Given the description of an element on the screen output the (x, y) to click on. 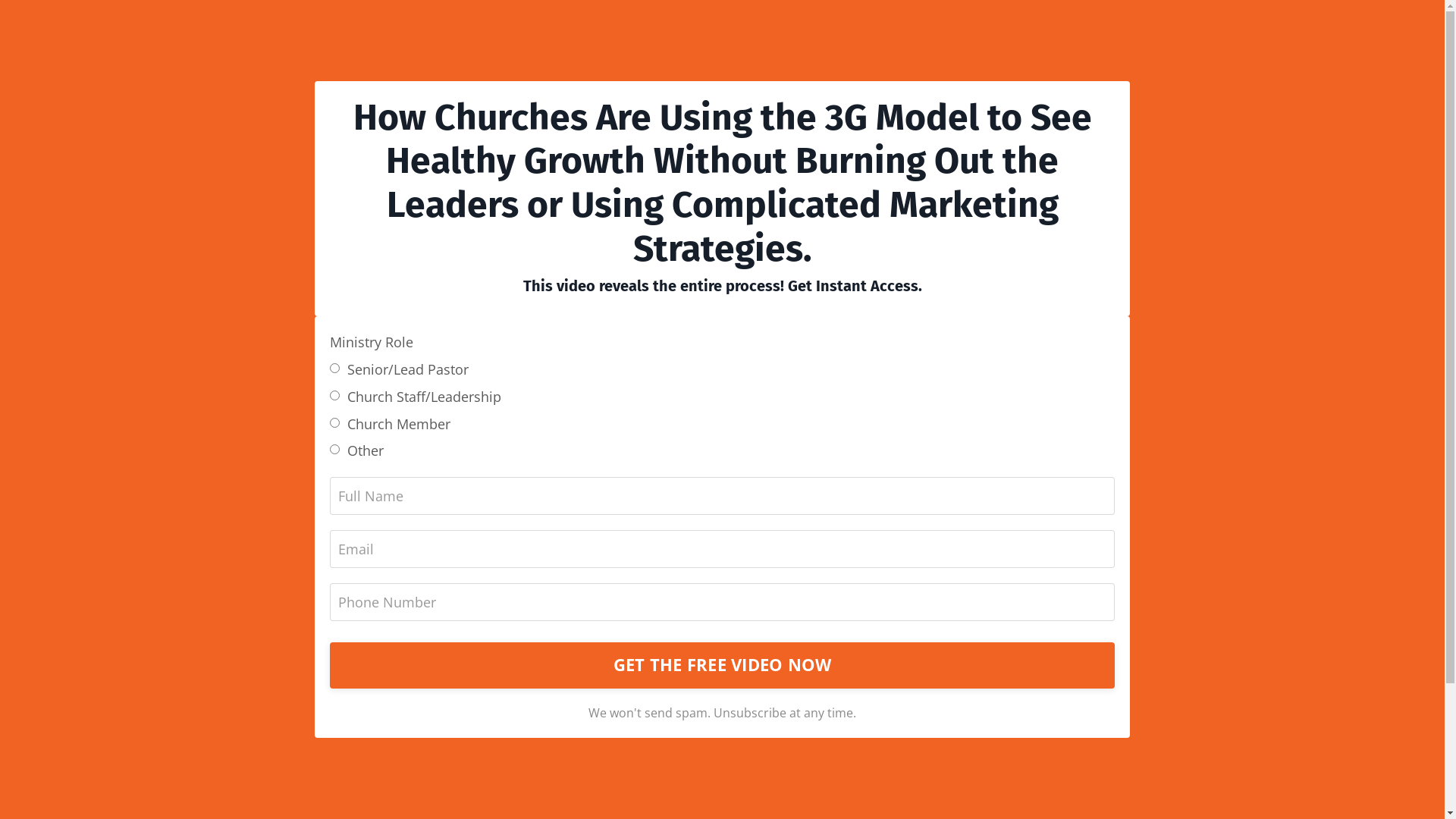
GET THE FREE VIDEO NOW Element type: text (721, 664)
